Given the description of an element on the screen output the (x, y) to click on. 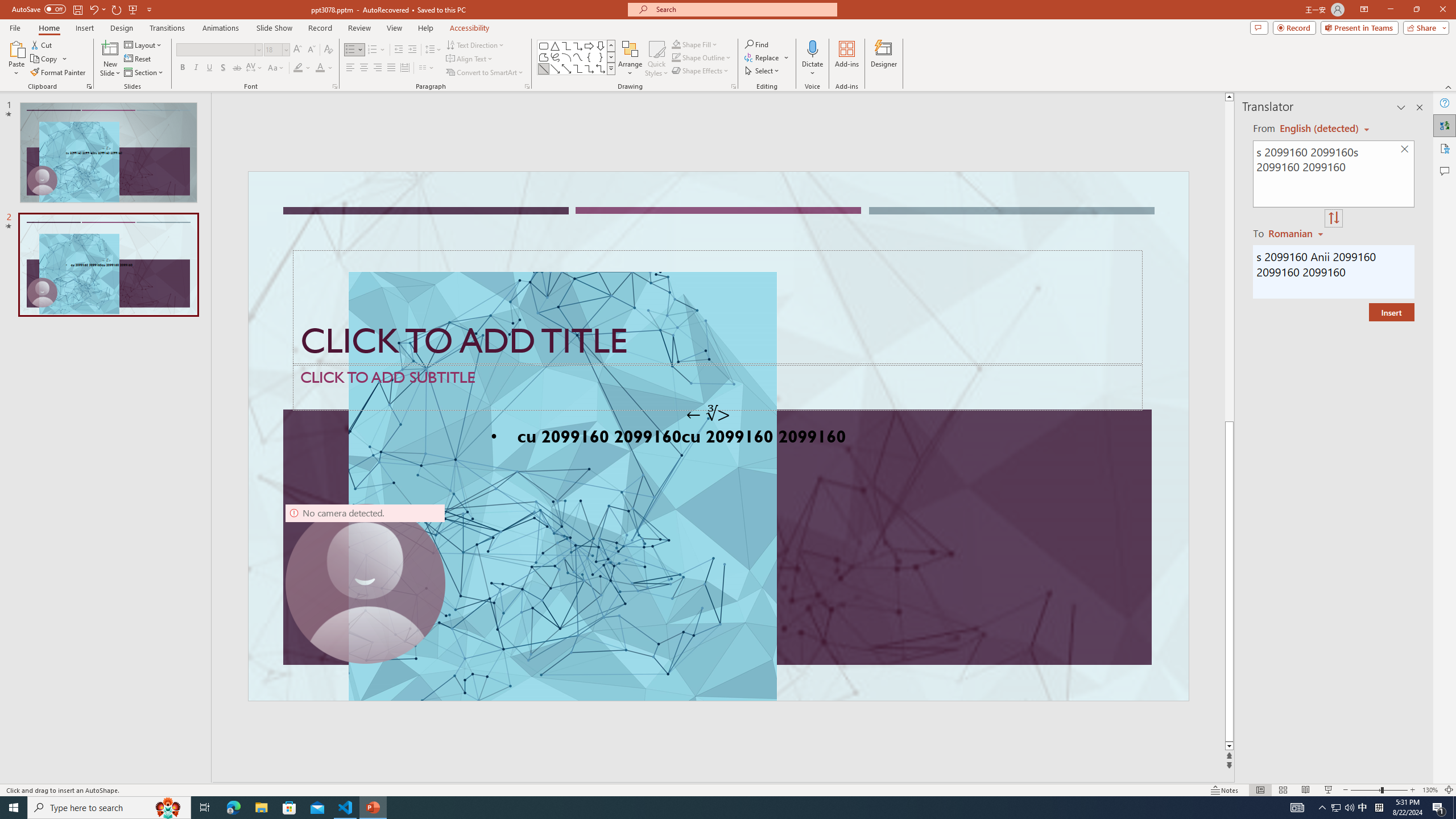
Czech (detected) (1319, 128)
Connector: Elbow Double-Arrow (600, 68)
